Given the description of an element on the screen output the (x, y) to click on. 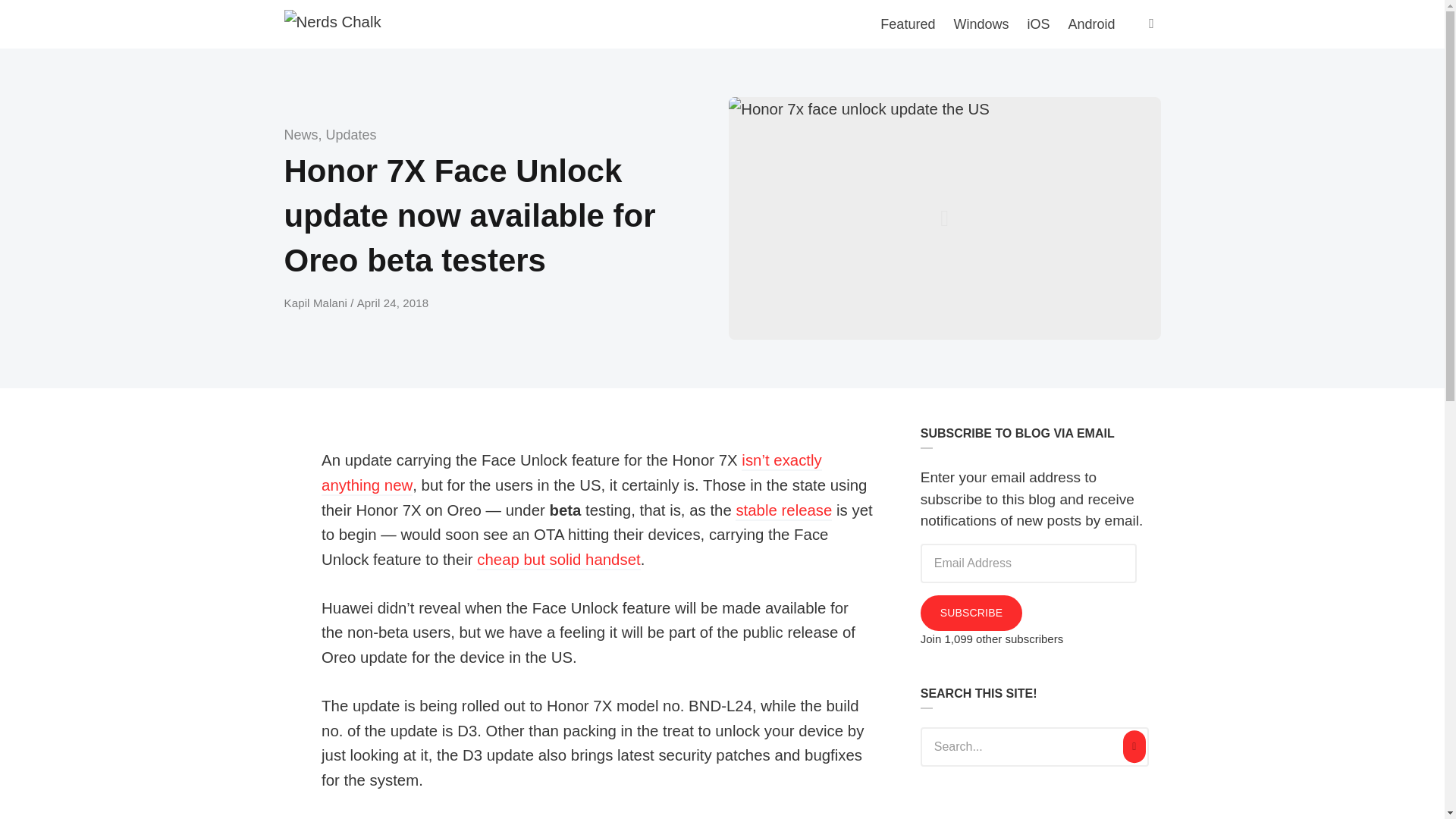
Windows (980, 24)
SUBSCRIBE (971, 613)
Updates (351, 134)
stable release (783, 511)
Android (1091, 24)
News (300, 134)
cheap but solid handset (558, 560)
Featured (906, 24)
Kapil Malani (316, 302)
